Given the description of an element on the screen output the (x, y) to click on. 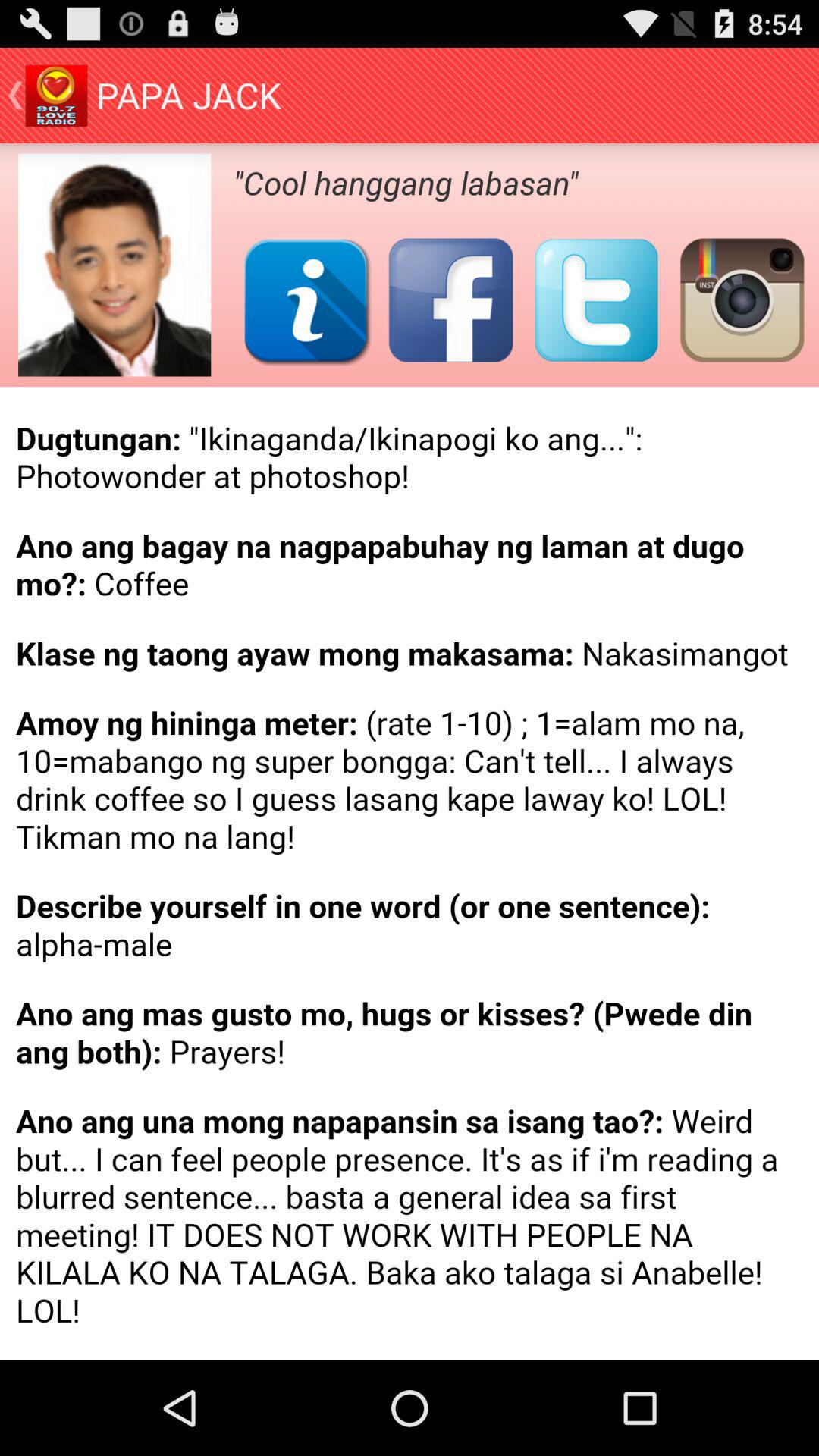
details (409, 873)
